Given the description of an element on the screen output the (x, y) to click on. 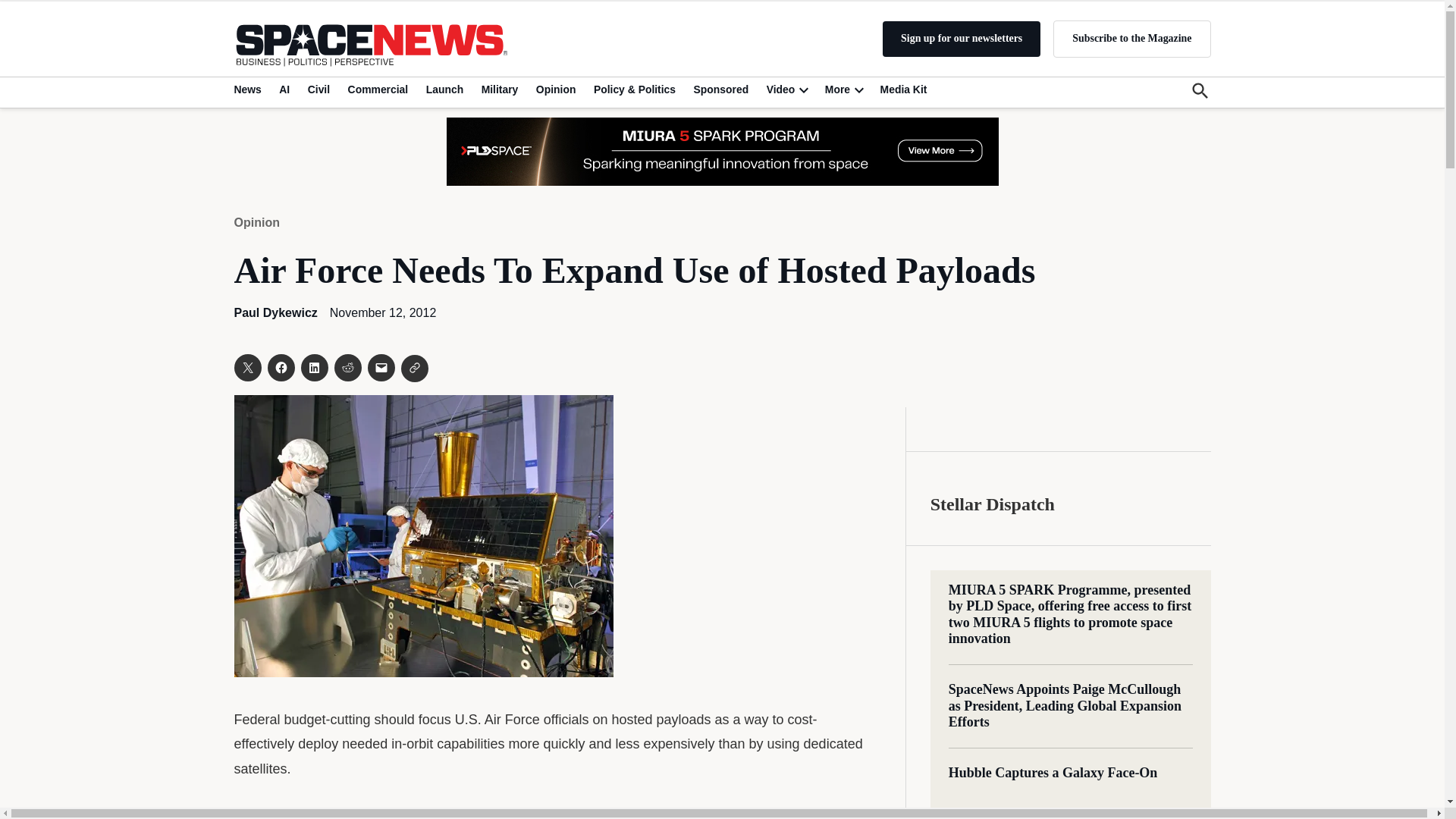
Click to share on X (246, 367)
Civil (318, 89)
AI (284, 89)
Subscribe to the Magazine (1130, 38)
Click to share on Facebook (280, 367)
Payload Aerospace (721, 151)
Click to share on Reddit (347, 367)
Click to share on LinkedIn (313, 367)
Click to share on Clipboard (414, 368)
News (249, 89)
Click to email a link to a friend (380, 367)
Sign up for our newsletters (961, 38)
